Given the description of an element on the screen output the (x, y) to click on. 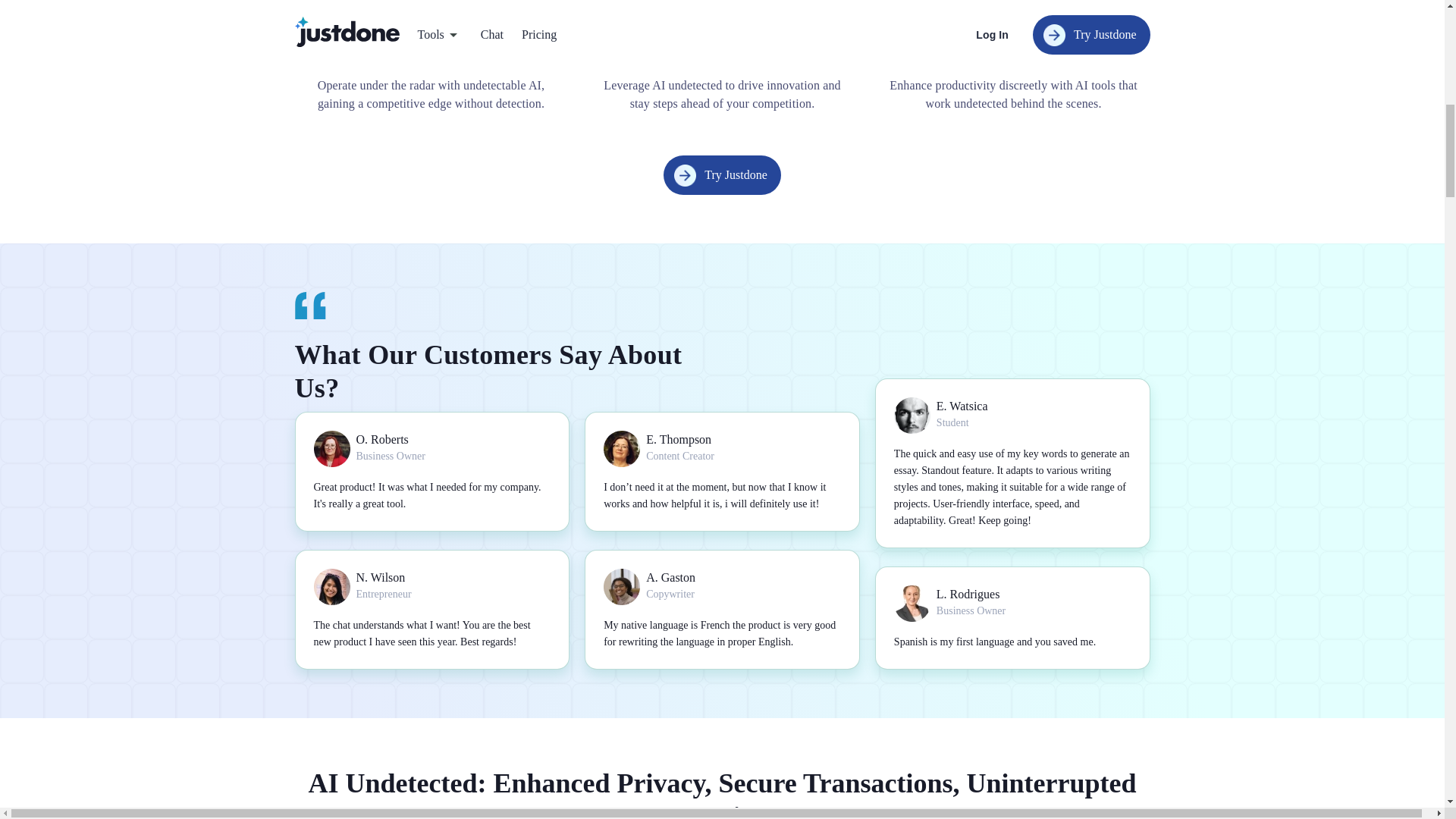
Try Justdone (721, 174)
